Given the description of an element on the screen output the (x, y) to click on. 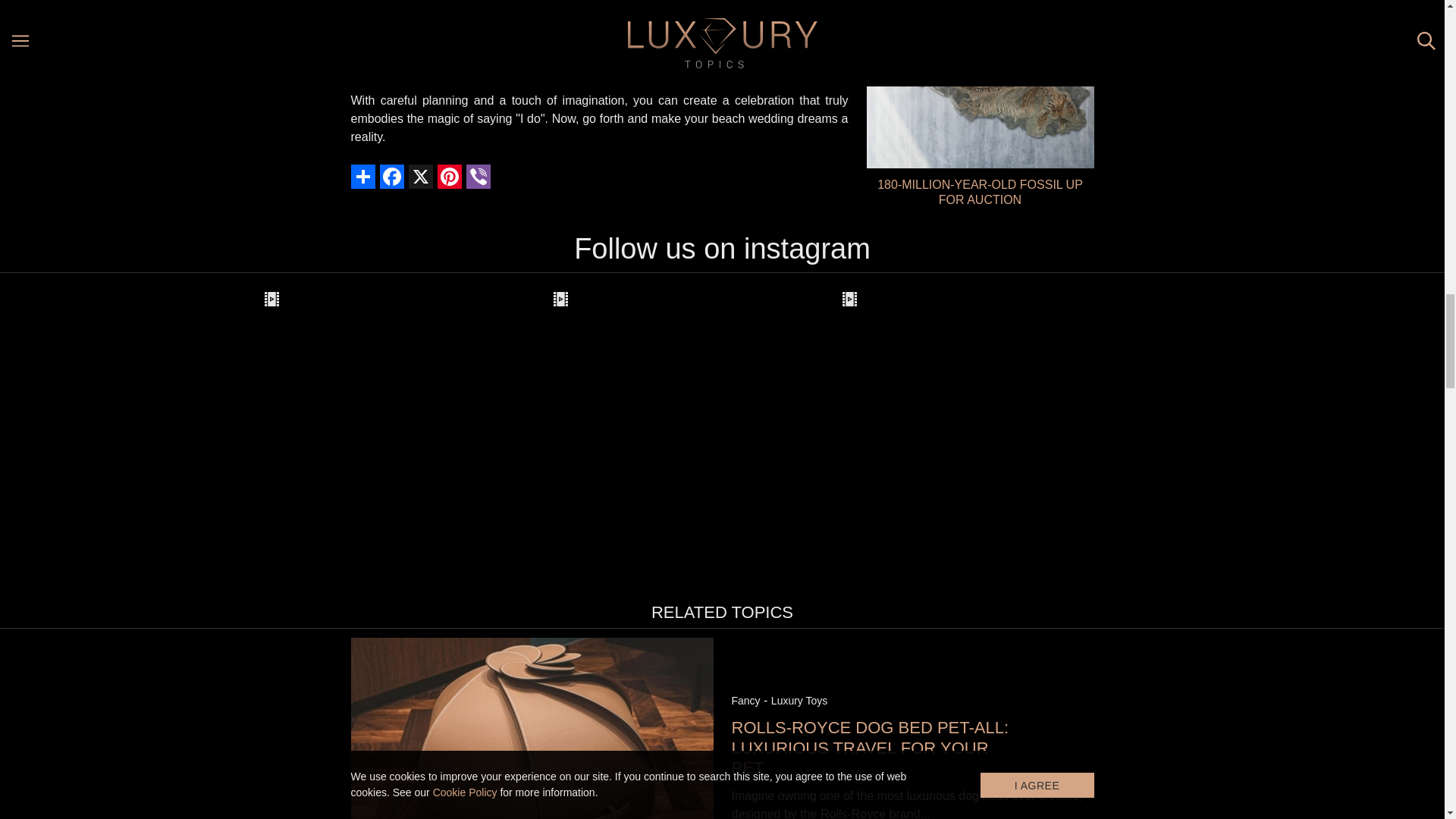
Share (364, 176)
Facebook (392, 176)
X (421, 176)
